Given the description of an element on the screen output the (x, y) to click on. 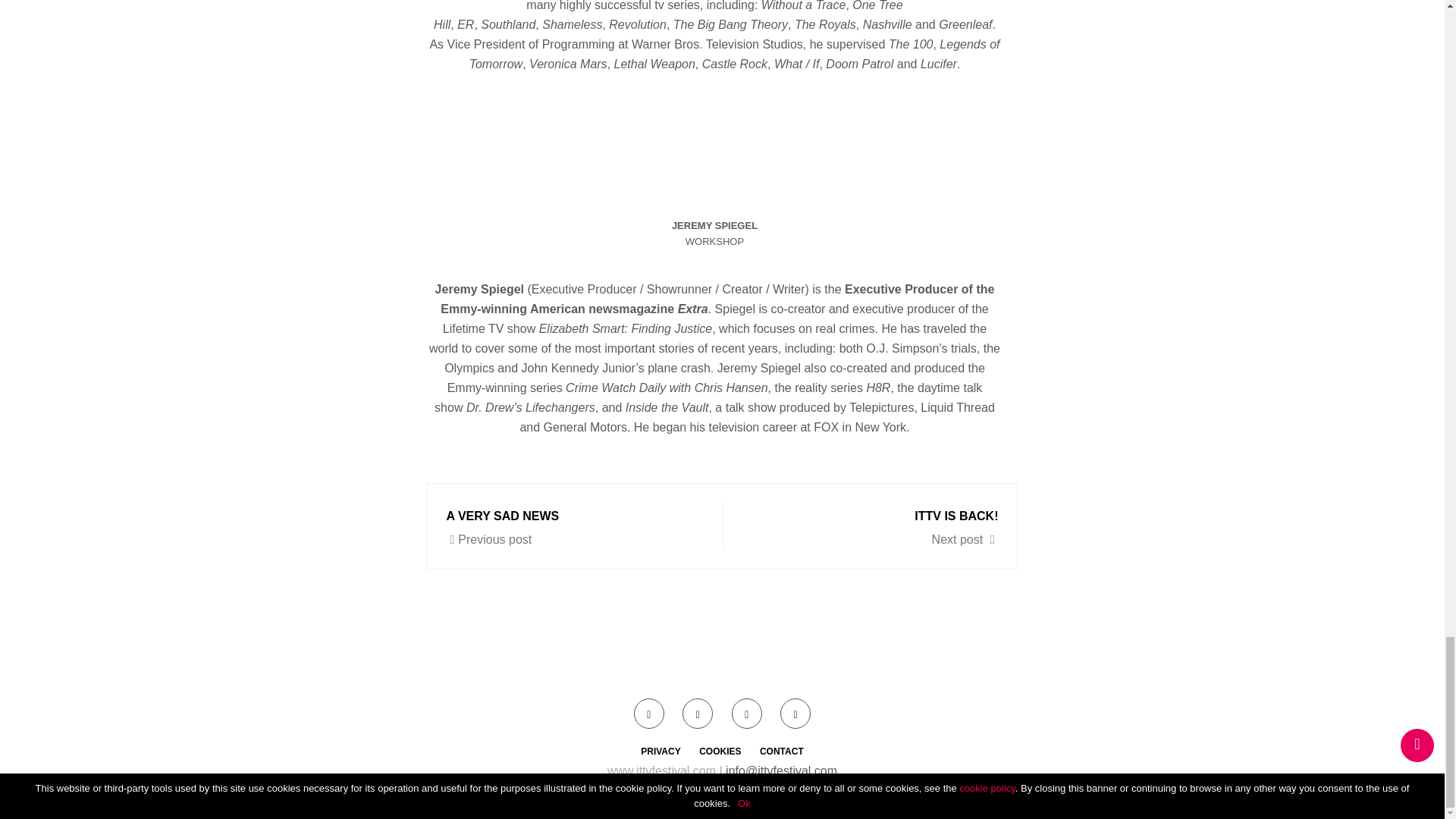
PRIVACY (659, 751)
COOKIES (568, 526)
CONTACT (719, 751)
